Given the description of an element on the screen output the (x, y) to click on. 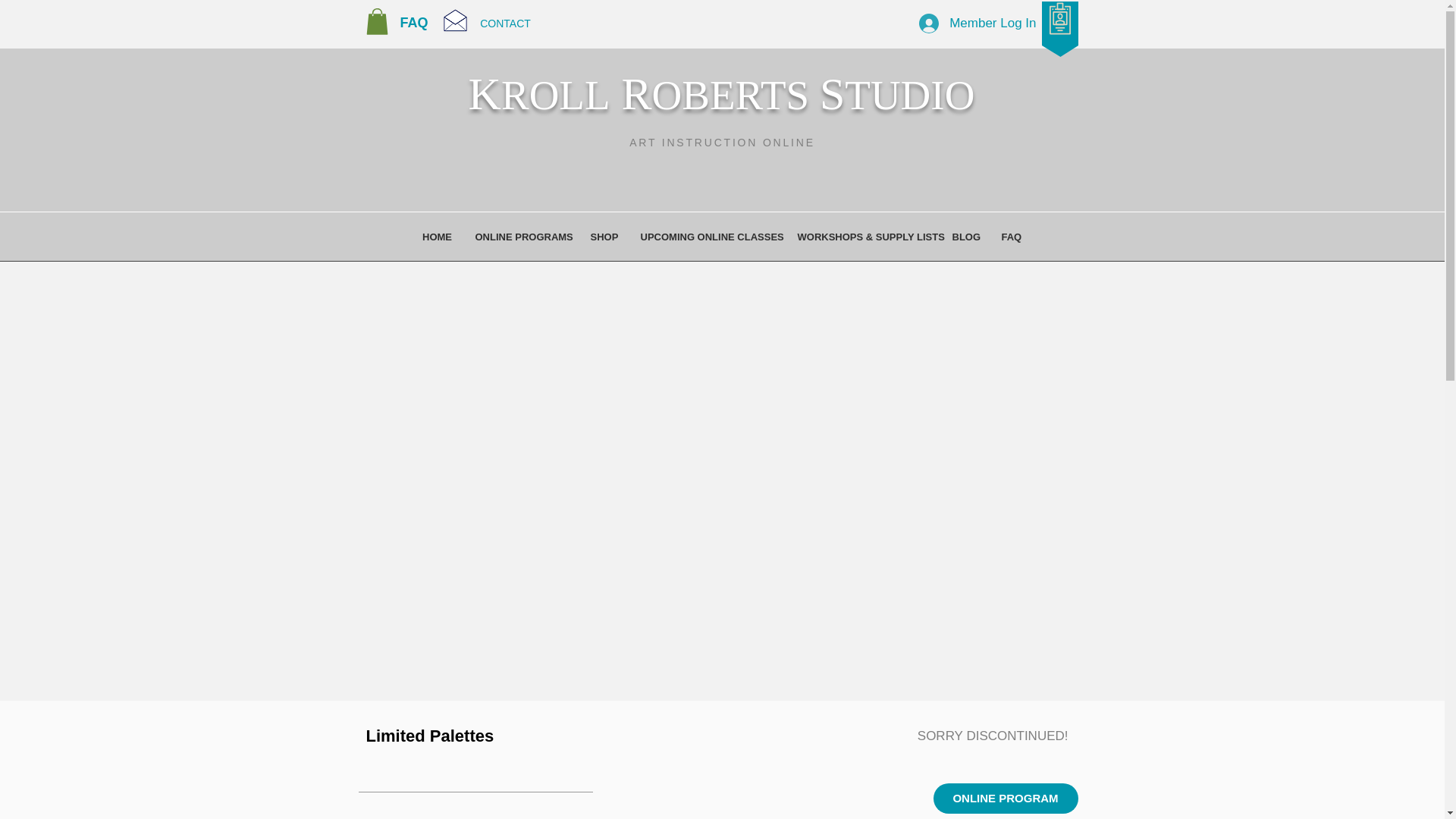
SHOP (603, 236)
FAQ (413, 23)
ONLINE PROGRAMS (521, 236)
Member Log In (977, 23)
BLOG (965, 236)
FAQ (1011, 236)
HOME (437, 236)
CONTACT (504, 24)
UPCOMING ONLINE CLASSES (707, 236)
KROLL ROBERTS STUDIO (721, 93)
